Given the description of an element on the screen output the (x, y) to click on. 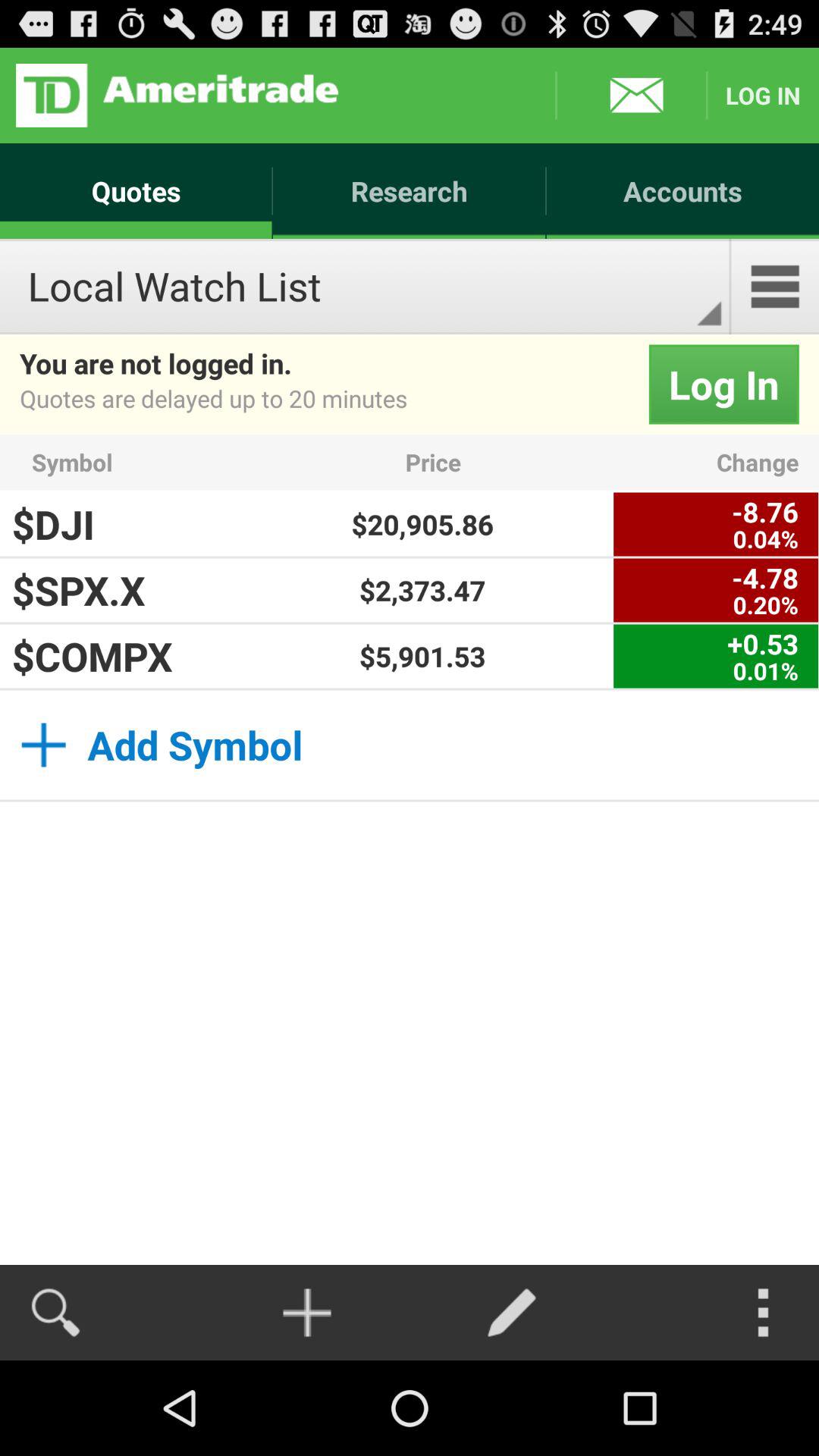
open the item to the left of the 0 53 0 app (422, 656)
